Given the description of an element on the screen output the (x, y) to click on. 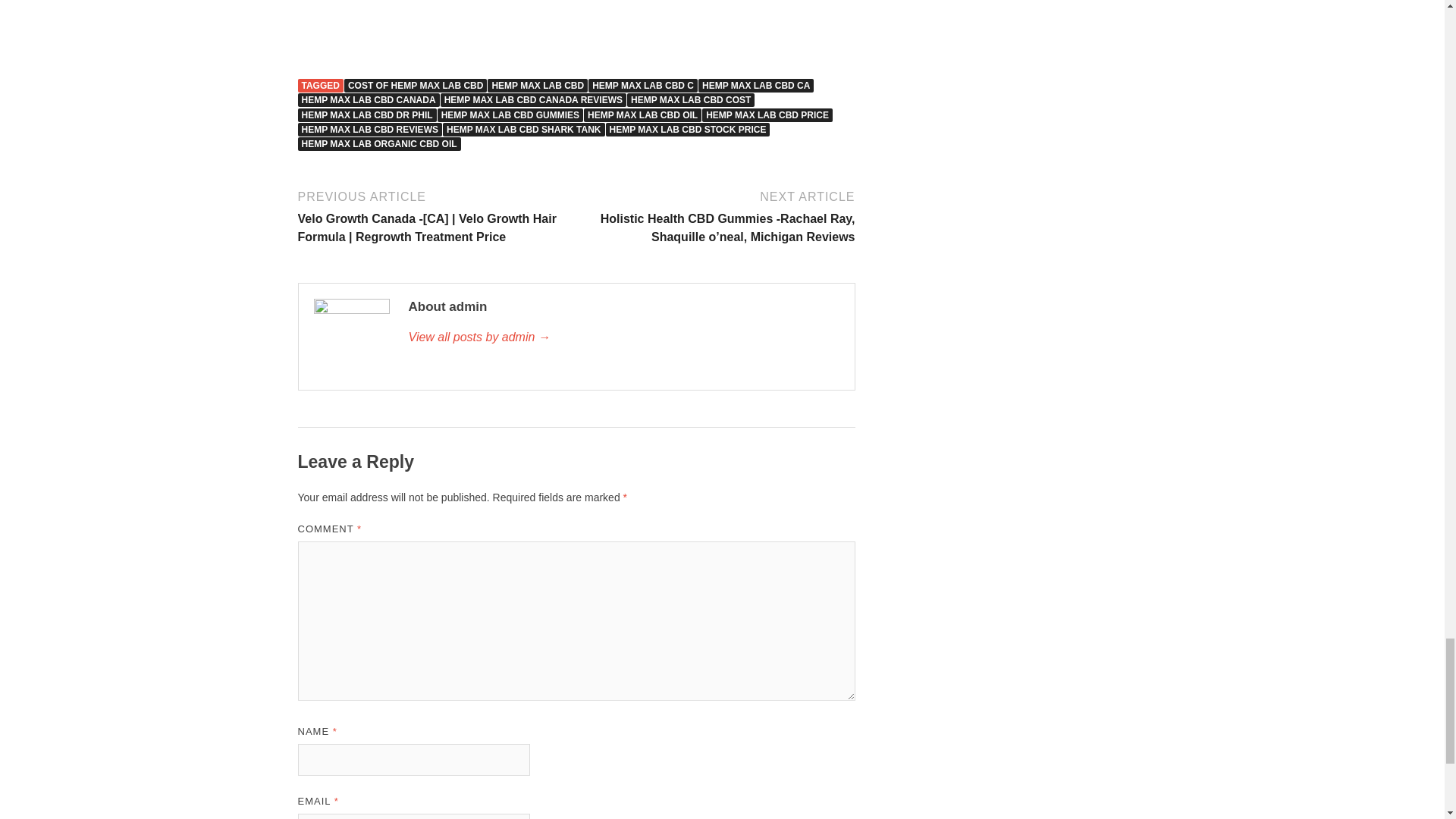
HEMP MAX LAB CBD GUMMIES (510, 114)
Hemp Max Lab CBD Canada (575, 22)
HEMP MAX LAB CBD COST (690, 100)
HEMP MAX LAB CBD PRICE (766, 114)
HEMP MAX LAB CBD C (642, 85)
COST OF HEMP MAX LAB CBD (414, 85)
admin (622, 337)
HEMP MAX LAB CBD (537, 85)
HEMP MAX LAB CBD DR PHIL (366, 114)
HEMP MAX LAB CBD OIL (642, 114)
